Given the description of an element on the screen output the (x, y) to click on. 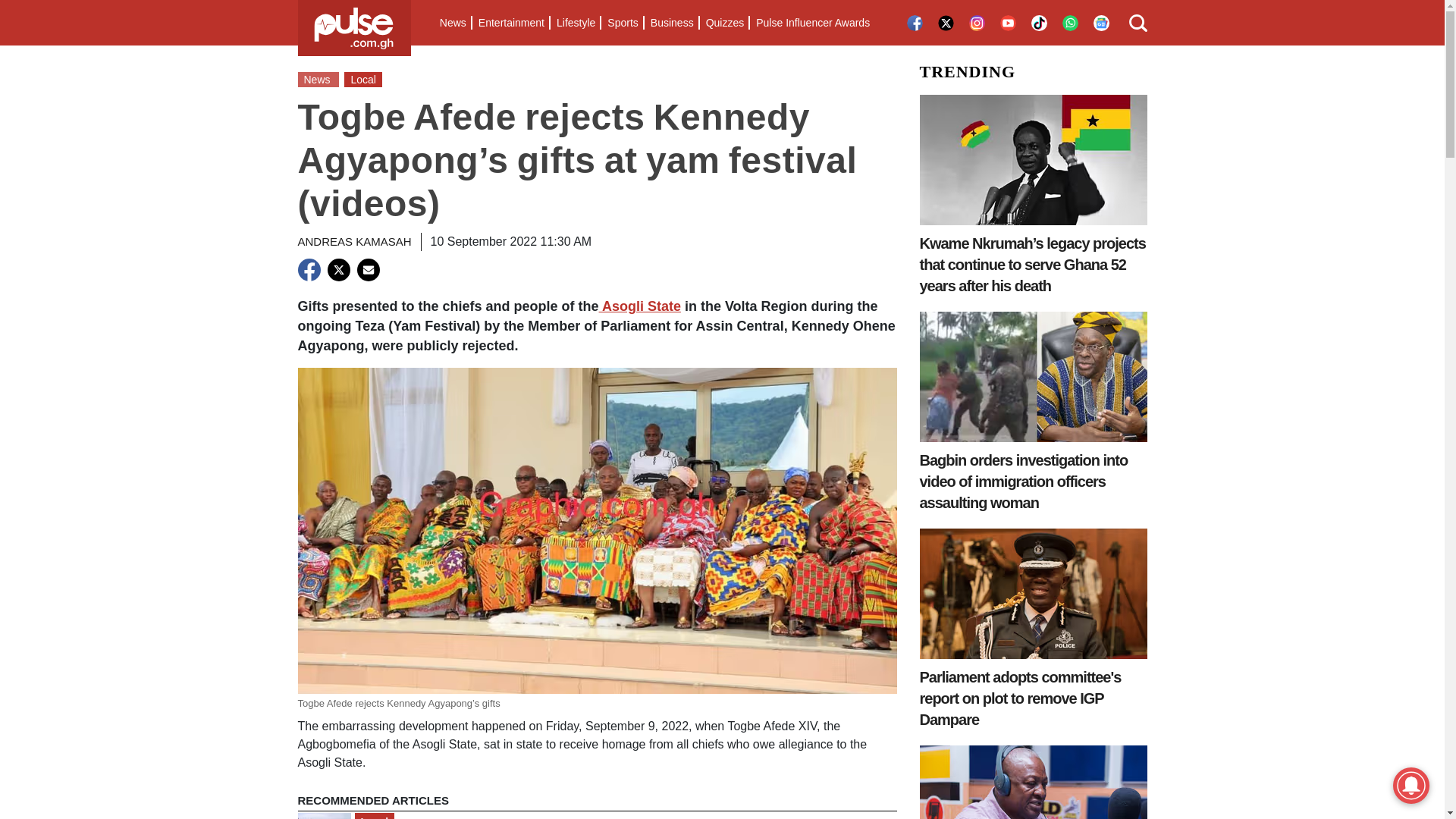
Lifestyle (575, 22)
Entertainment (510, 22)
News (452, 22)
Business (672, 22)
Sports (622, 22)
